Given the description of an element on the screen output the (x, y) to click on. 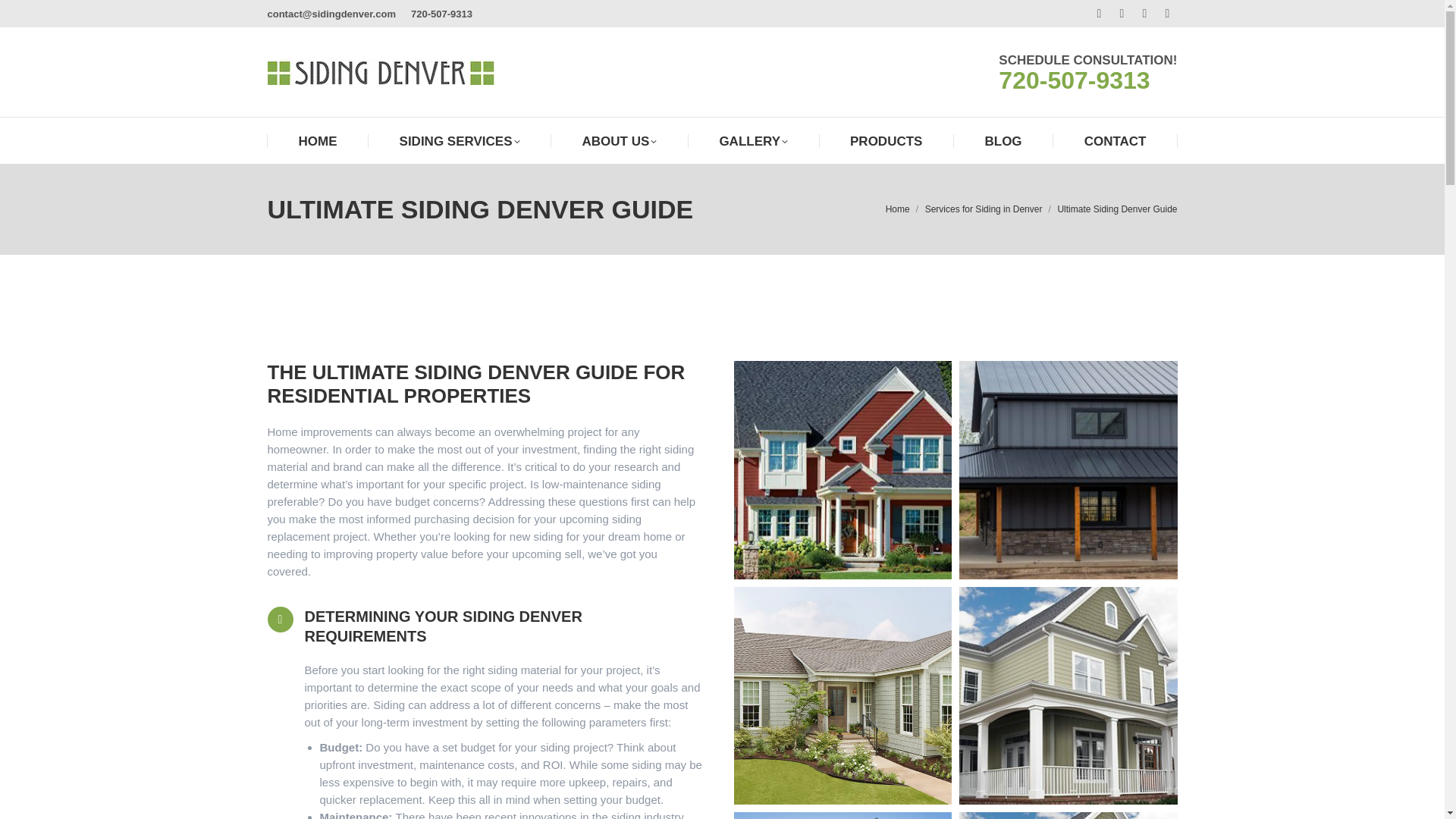
X page opens in new window (1122, 13)
X page opens in new window (1122, 13)
HOME (317, 141)
Linkedin page opens in new window (1144, 13)
siding services denver contractor (458, 141)
YouTube page opens in new window (1167, 13)
siding denver experts (317, 141)
ABOUT US (620, 141)
Facebook page opens in new window (1099, 13)
Linkedin page opens in new window (1144, 13)
YouTube page opens in new window (1167, 13)
SIDING SERVICES (458, 141)
Facebook page opens in new window (1099, 13)
